Given the description of an element on the screen output the (x, y) to click on. 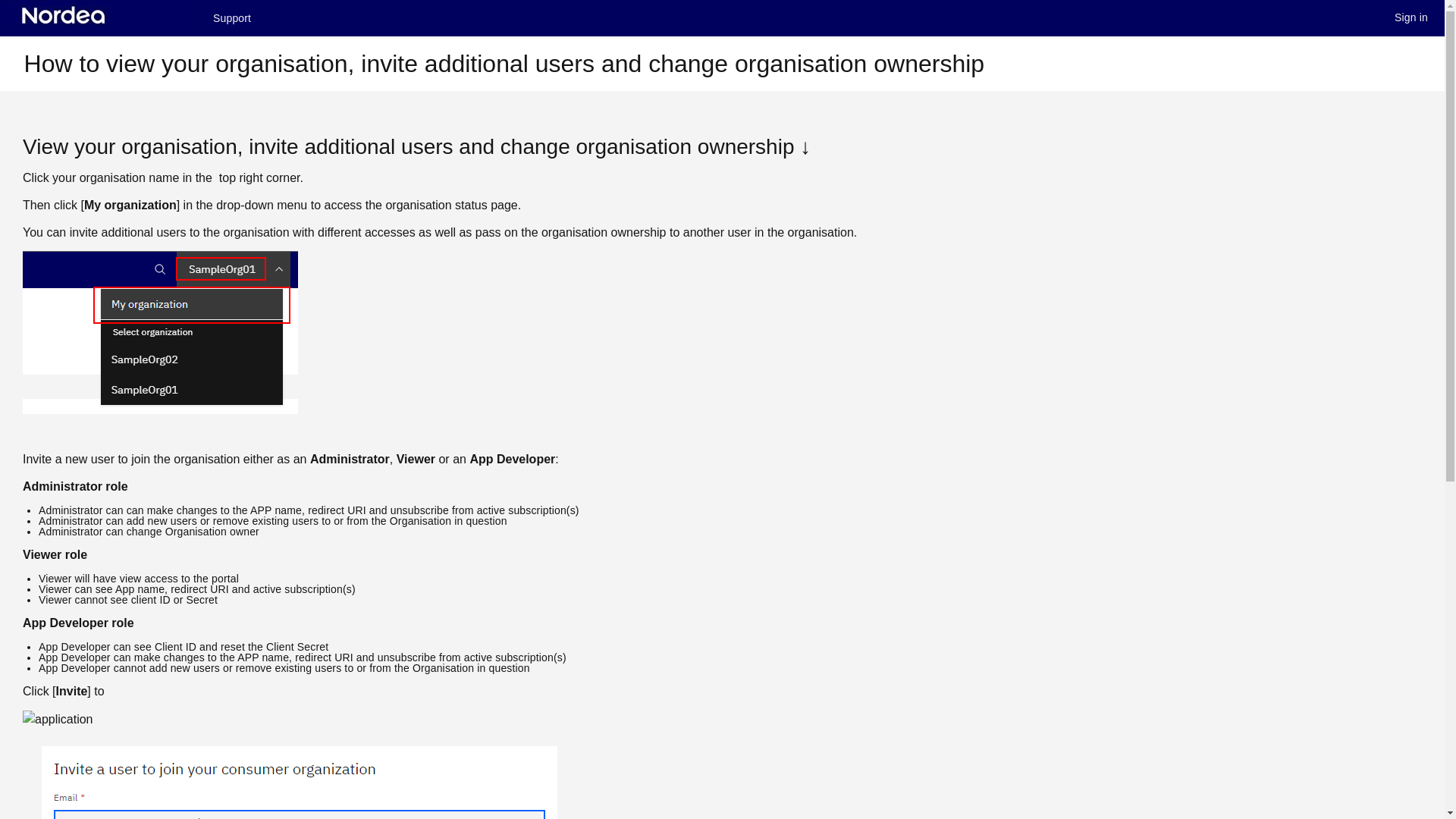
Home (101, 18)
Support (232, 18)
How to get help (232, 18)
Sign in (1411, 19)
Sign in to your account (1411, 19)
